Given the description of an element on the screen output the (x, y) to click on. 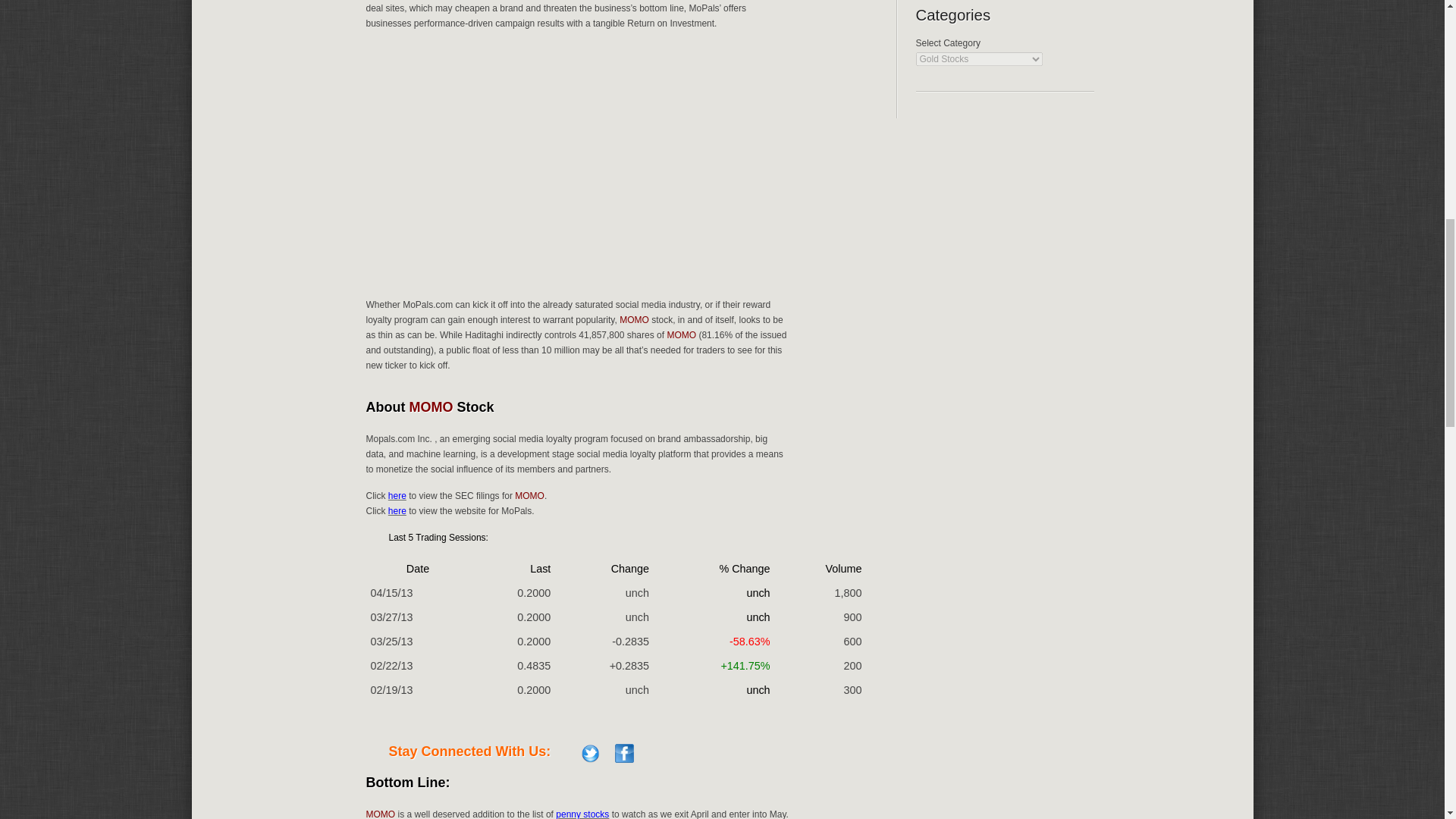
here (397, 495)
here (397, 511)
penny stocks (582, 814)
